Given the description of an element on the screen output the (x, y) to click on. 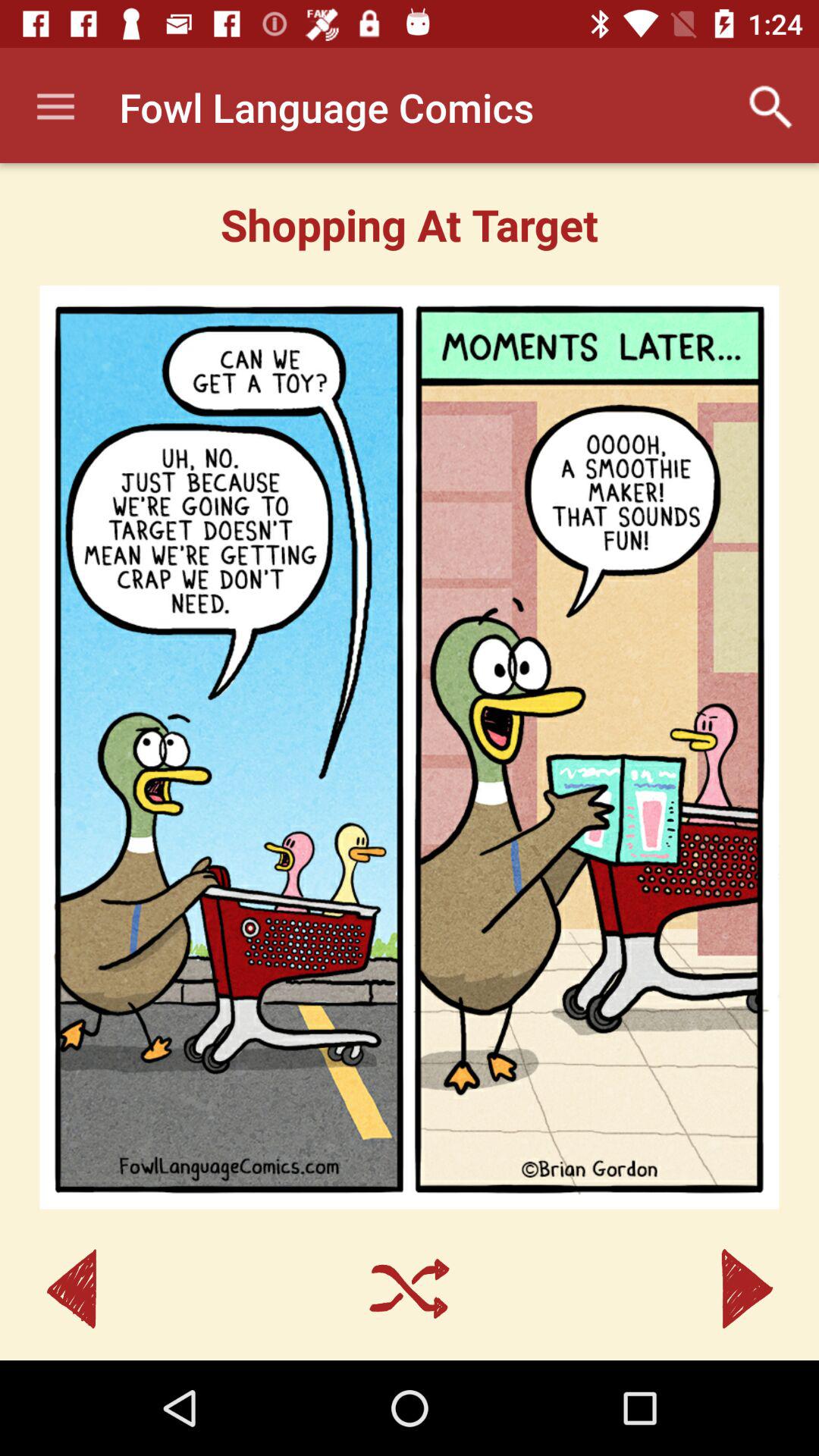
tap the item at the bottom left corner (71, 1288)
